Given the description of an element on the screen output the (x, y) to click on. 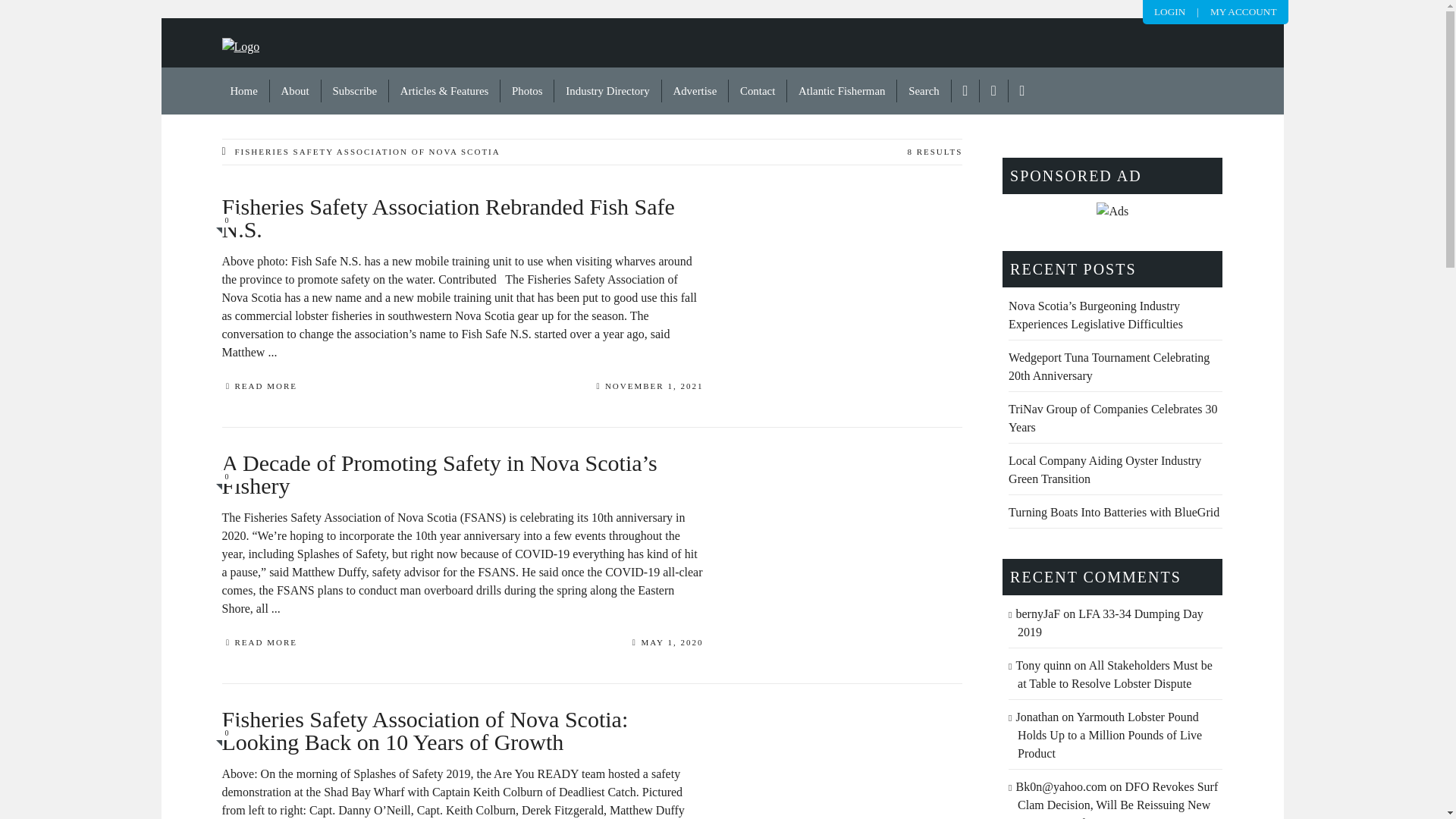
READ MORE (259, 388)
Twitter (994, 90)
MY ACCOUNT (1242, 11)
Search (923, 90)
Search (923, 90)
Home (243, 90)
Home (243, 90)
Subscribe (354, 90)
Contact (758, 90)
LOGIN (1169, 11)
Advertise (695, 90)
Fisheries Safety Association Rebranded Fish Safe N.S. (462, 231)
About (295, 90)
Industry Directory (607, 90)
